Given the description of an element on the screen output the (x, y) to click on. 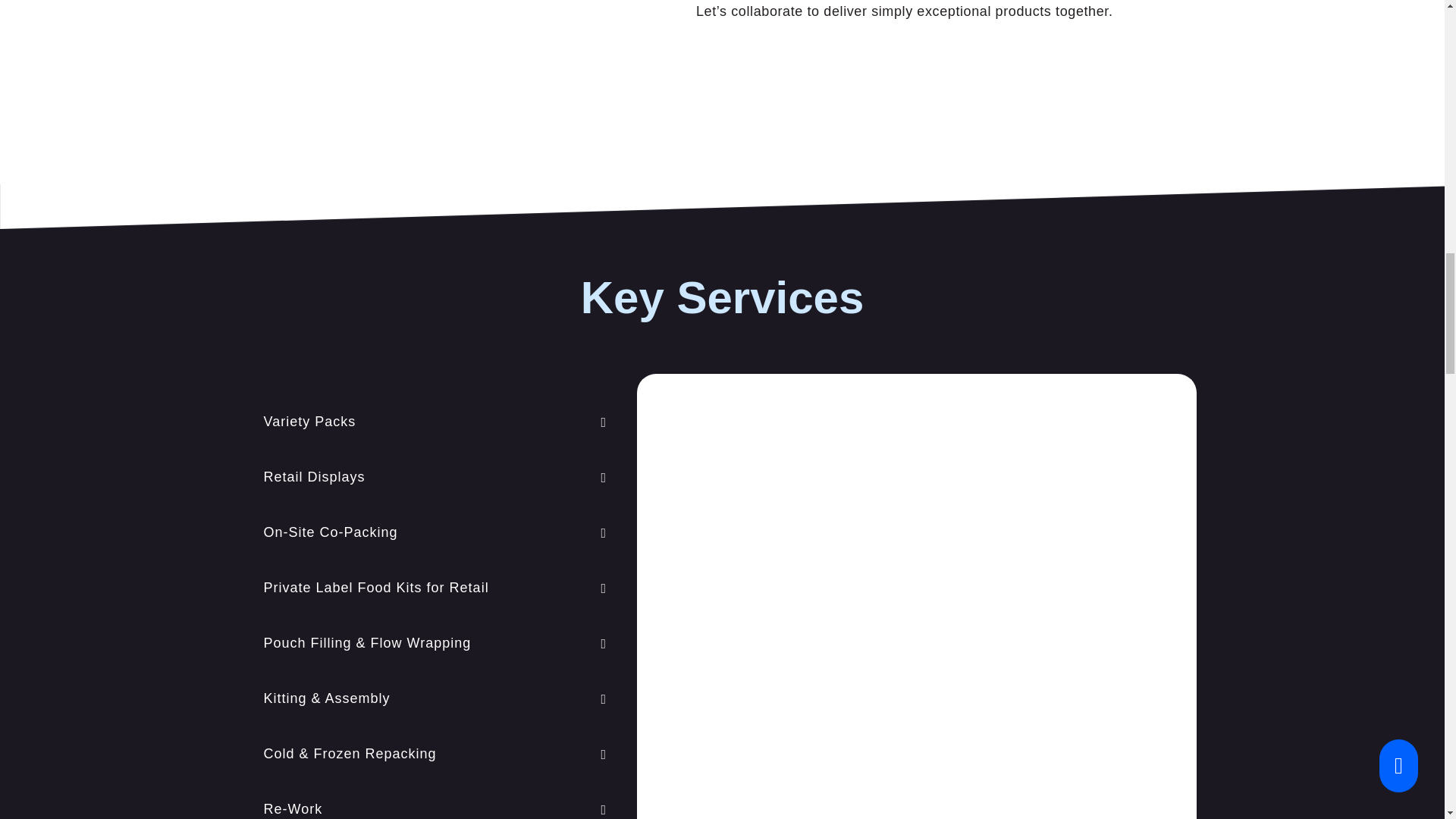
Private Label Food Kits for Retail (435, 588)
Re-Work (435, 805)
Variety Packs (435, 421)
Retail Displays (435, 477)
On-Site Co-Packing (435, 532)
